Given the description of an element on the screen output the (x, y) to click on. 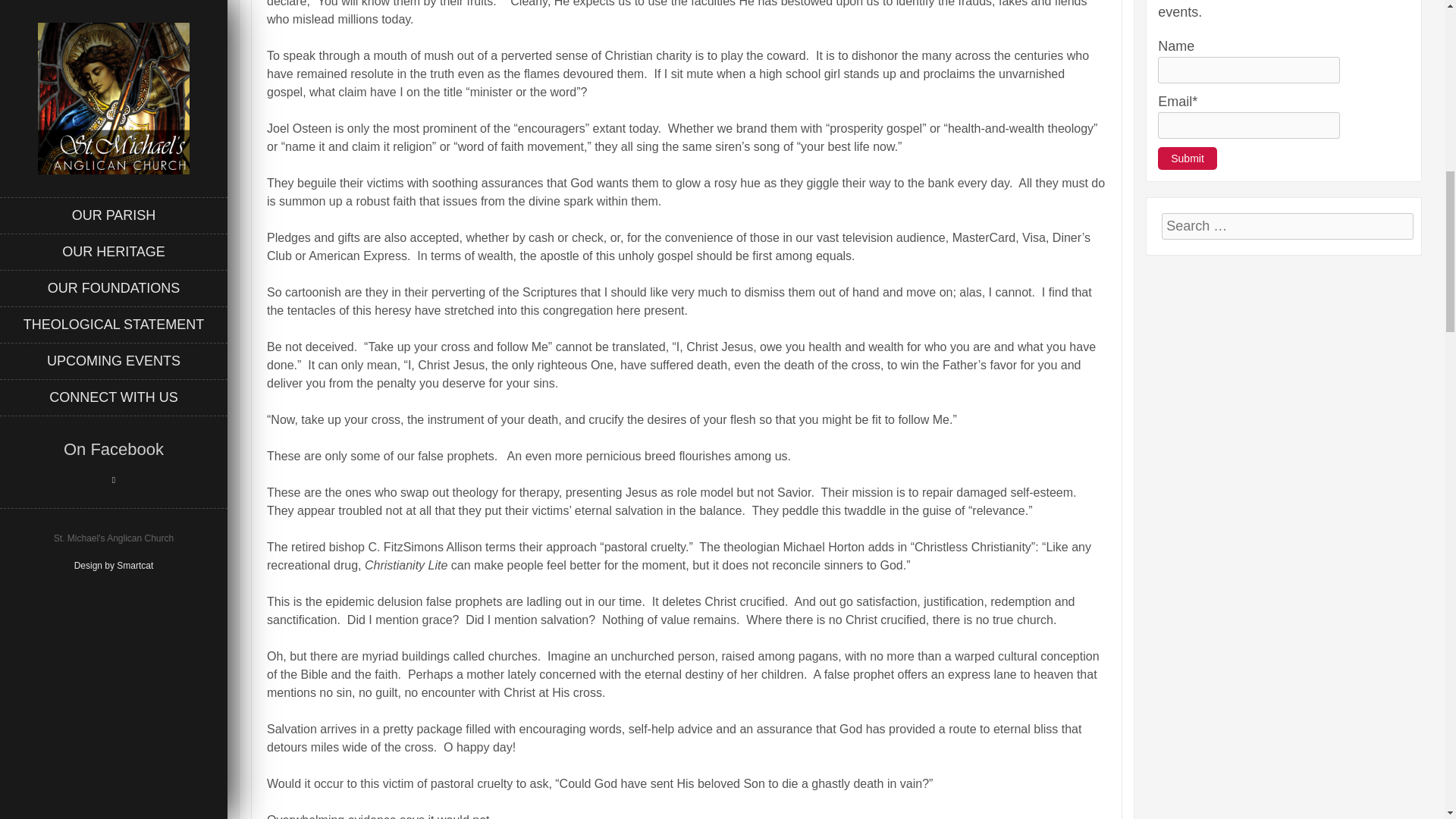
Submit (1187, 158)
